Given the description of an element on the screen output the (x, y) to click on. 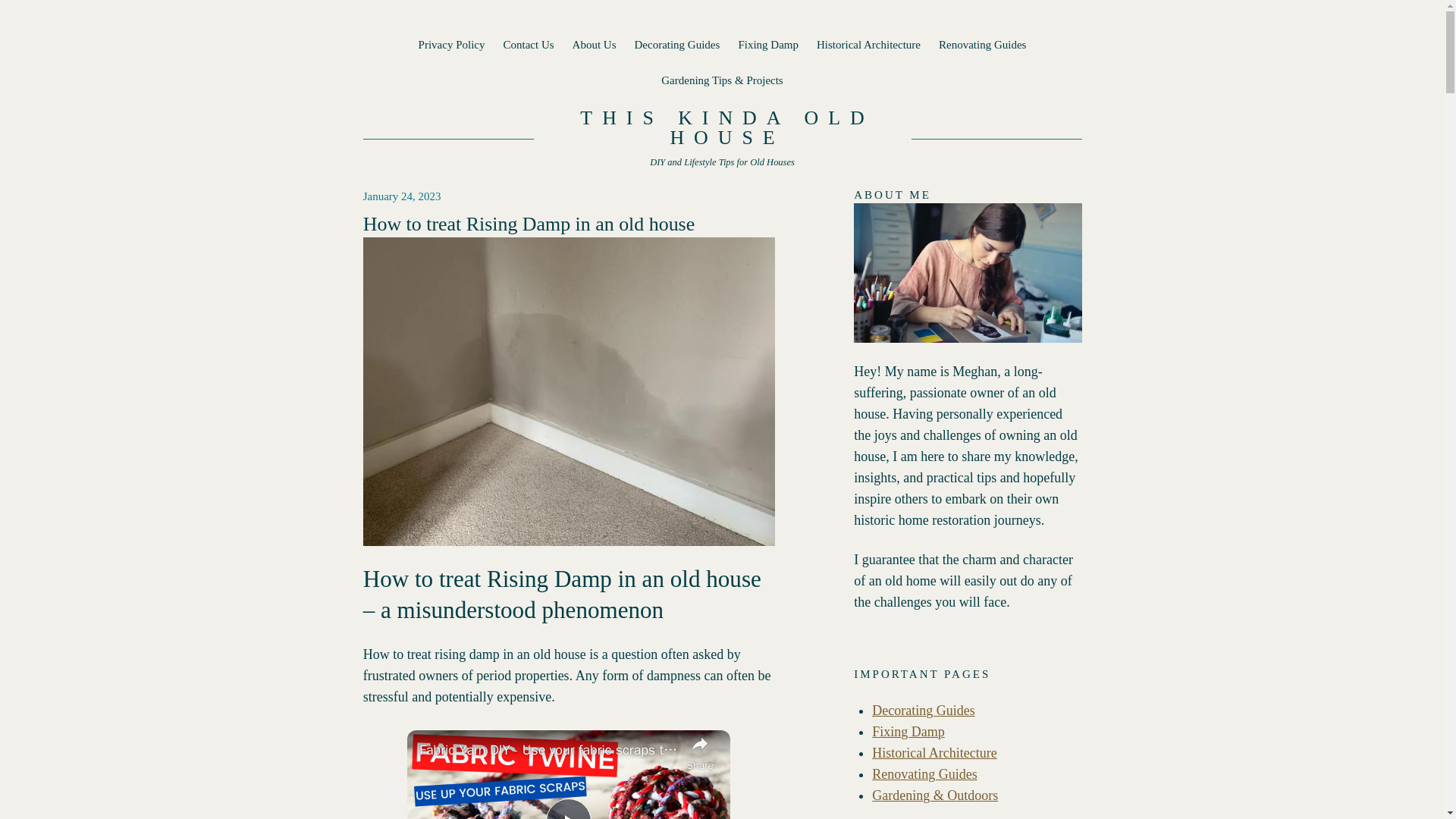
Renovating Guides (982, 45)
Fixing Damp (767, 45)
Contact Us (527, 45)
Play Video (568, 808)
THIS KINDA OLD HOUSE (726, 127)
About Us (593, 45)
Historical Architecture (868, 45)
Decorating Guides (676, 45)
Privacy Policy (451, 45)
Play Video (568, 808)
